Given the description of an element on the screen output the (x, y) to click on. 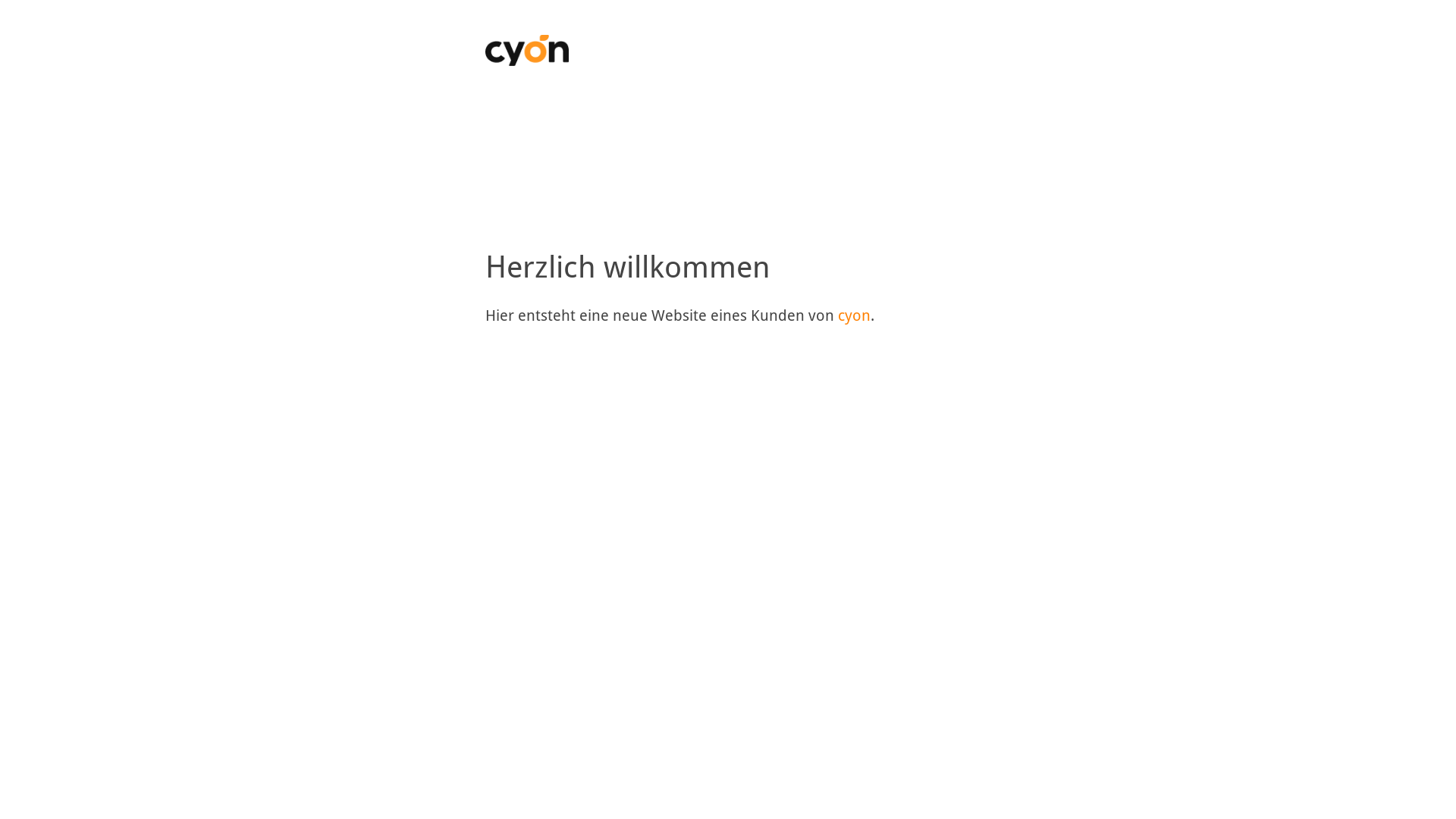
cyon Element type: text (853, 315)
